Given the description of an element on the screen output the (x, y) to click on. 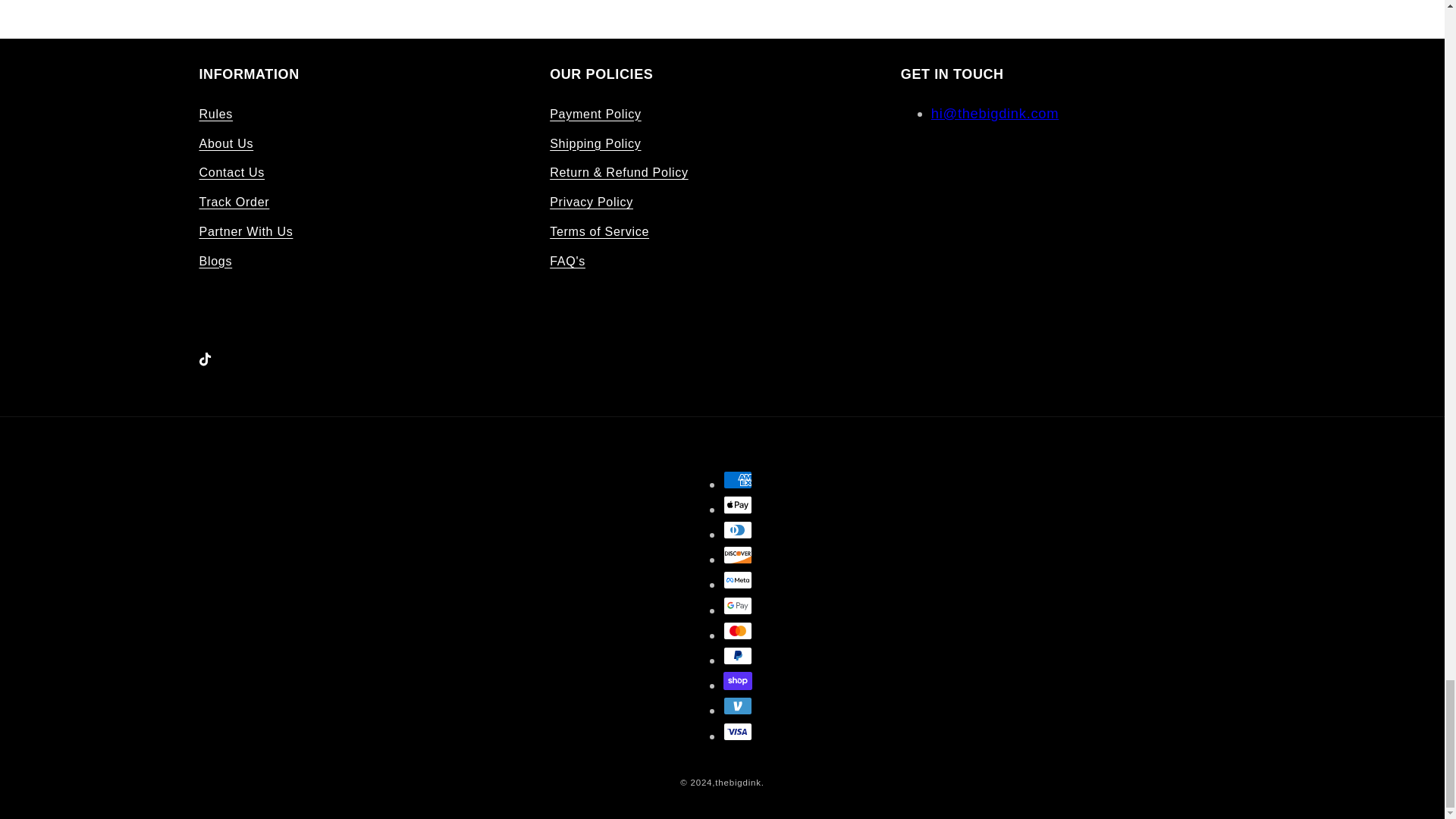
Diners Club (737, 529)
Mastercard (737, 630)
Track Order (233, 202)
Visa (737, 731)
Google Pay (737, 606)
American Express (737, 479)
FAQ's (567, 261)
Partner With Us (245, 231)
Blogs (214, 261)
Shipping Policy (595, 143)
